Given the description of an element on the screen output the (x, y) to click on. 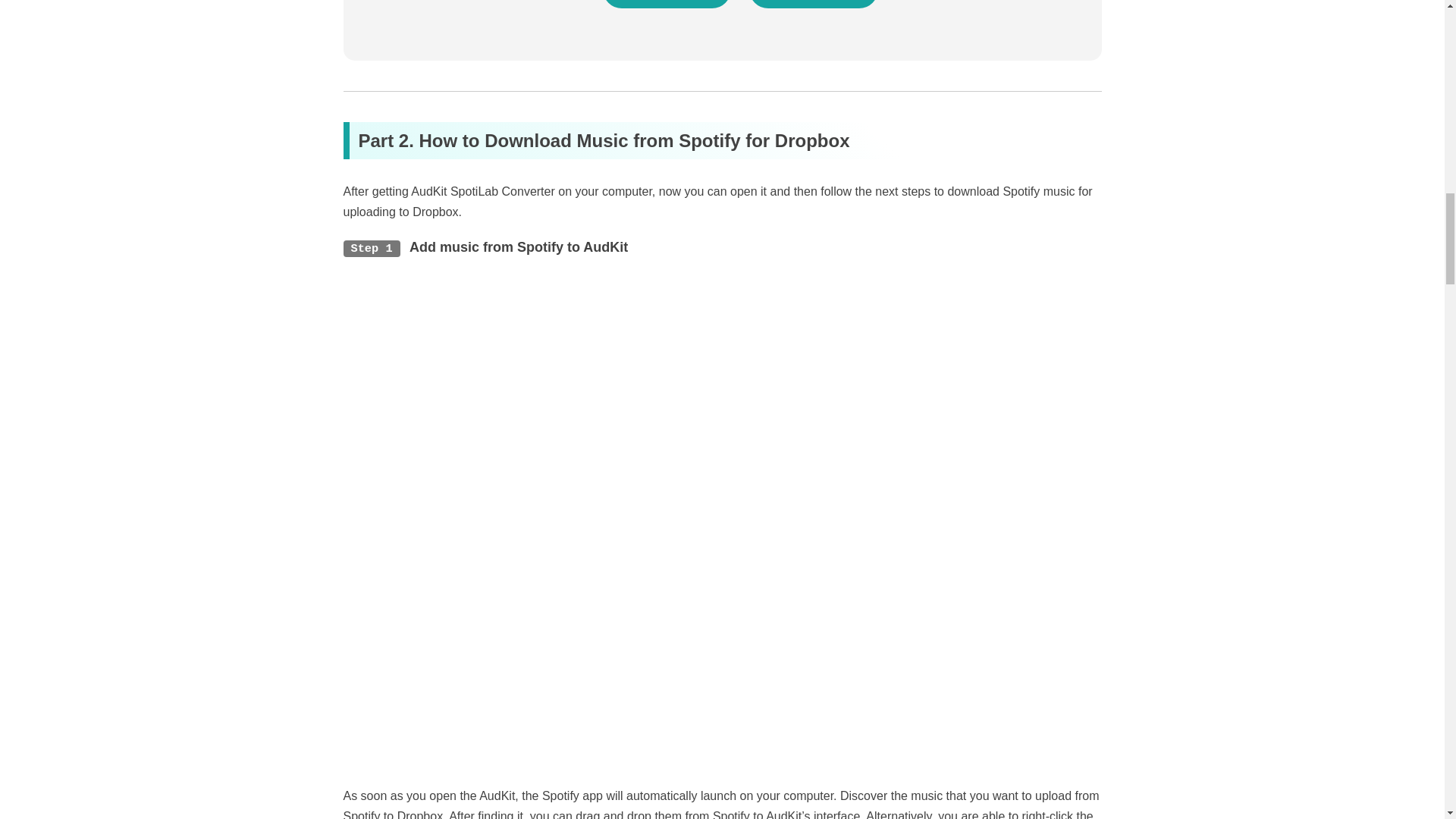
Download (666, 4)
Download (813, 4)
